Given the description of an element on the screen output the (x, y) to click on. 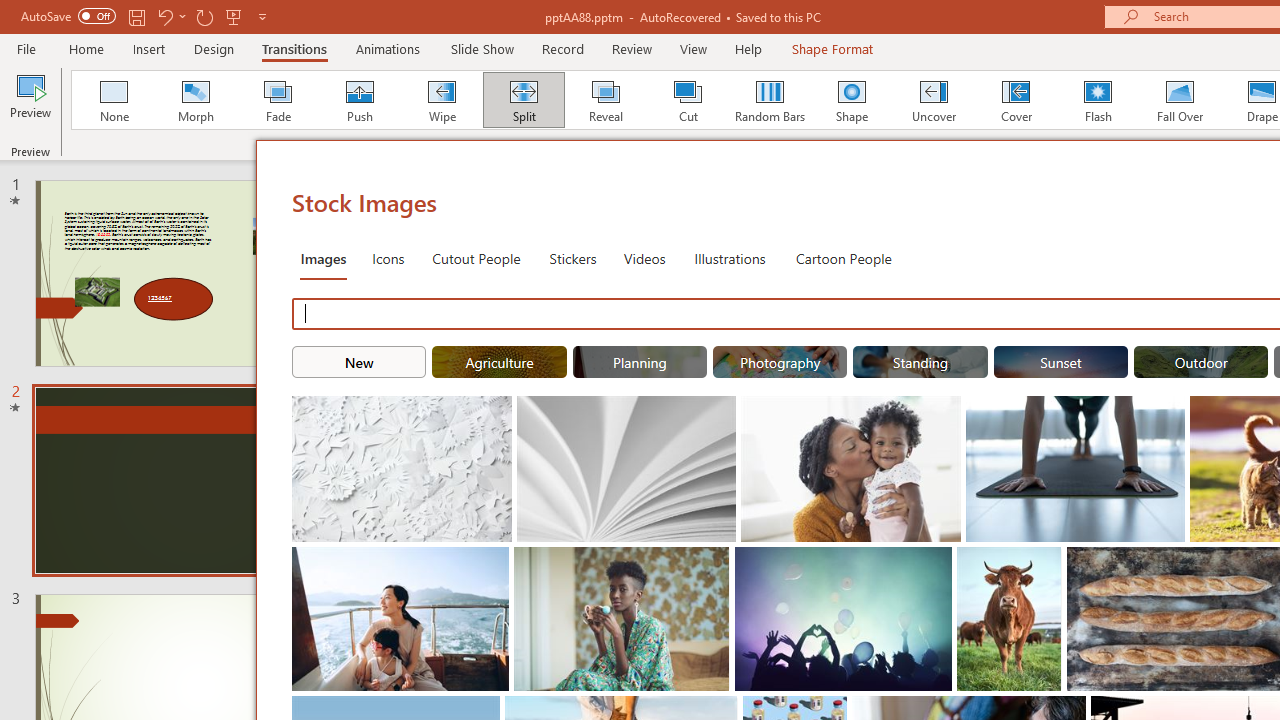
Random Bars (770, 100)
Push (359, 100)
"Photography" Stock Images. (779, 362)
None (113, 100)
Preview (30, 102)
"Planning" Stock Images. (639, 362)
Uncover (934, 100)
Fall Over (1180, 100)
Cut (687, 100)
